Given the description of an element on the screen output the (x, y) to click on. 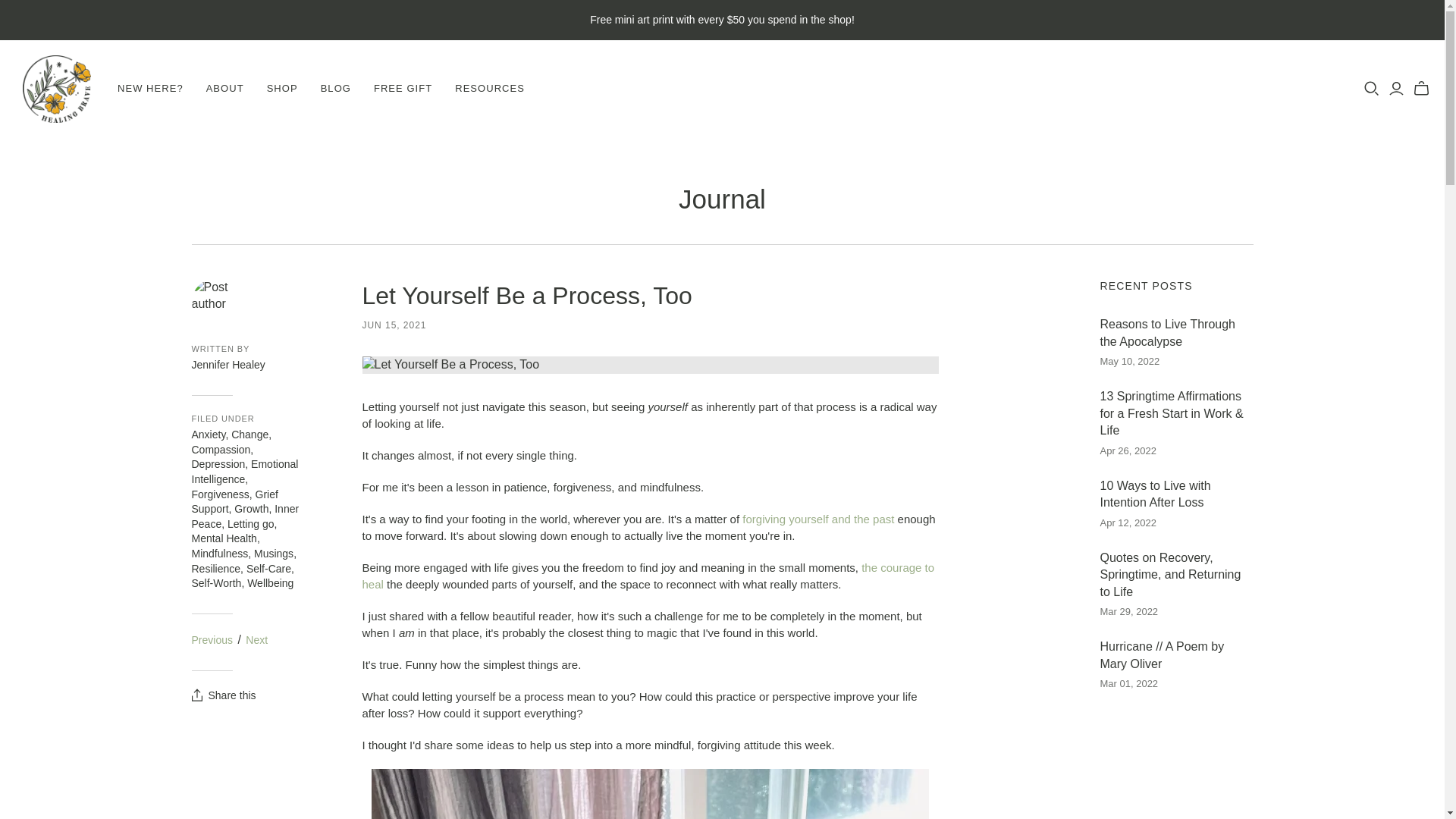
Anxiety (207, 434)
Self Love Hand Lettered Poetry Art Print (817, 518)
Forgiveness (219, 494)
FREE GIFT (403, 88)
BLOG (335, 88)
SHOP (282, 88)
RESOURCES (489, 88)
NEW HERE? (150, 88)
Change (249, 434)
Compassion (220, 449)
Depression (217, 463)
Journal (721, 198)
ABOUT (225, 88)
Emotional Intelligence (244, 471)
Grief Support (234, 501)
